Given the description of an element on the screen output the (x, y) to click on. 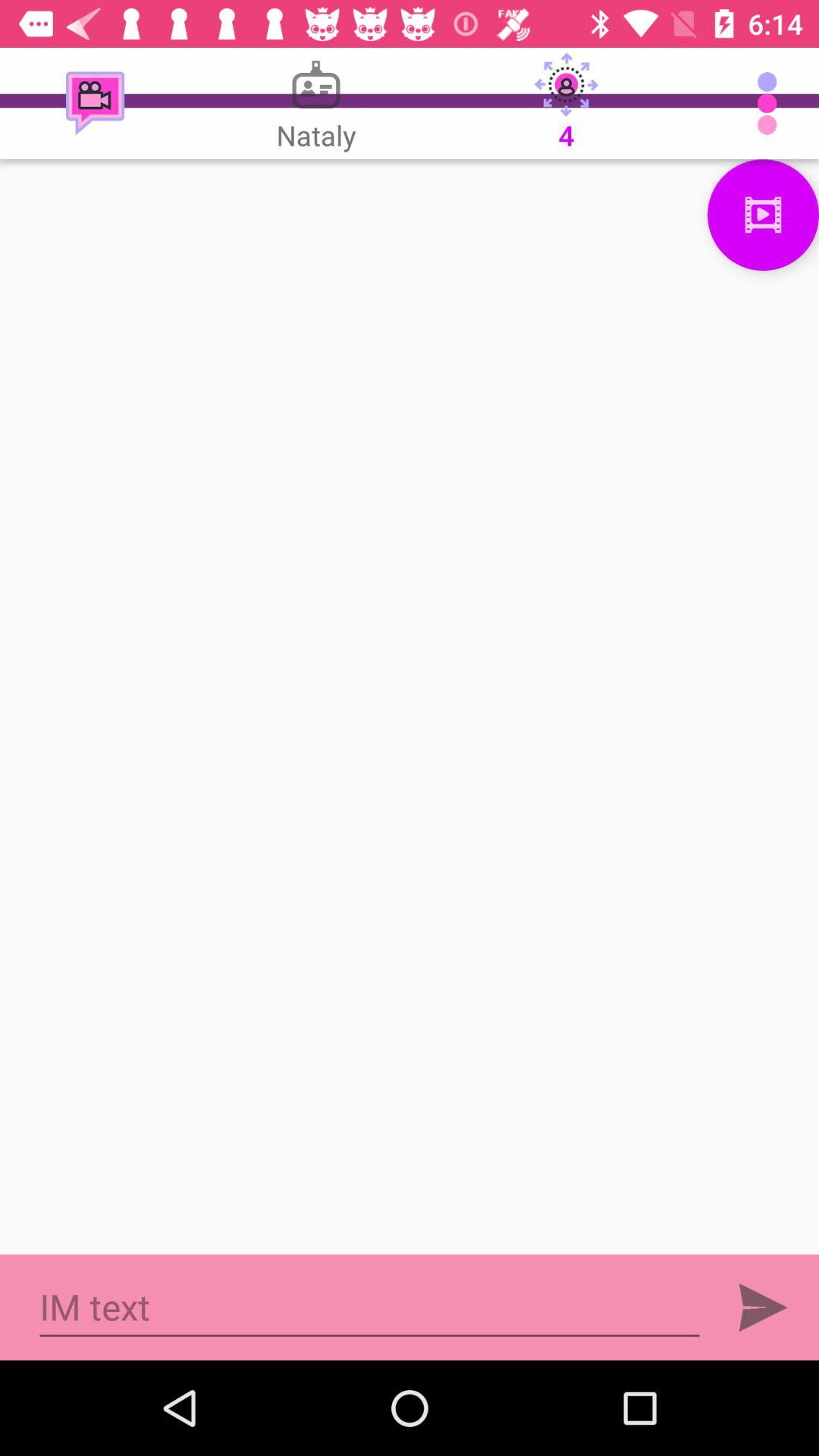
text entry (369, 1307)
